Given the description of an element on the screen output the (x, y) to click on. 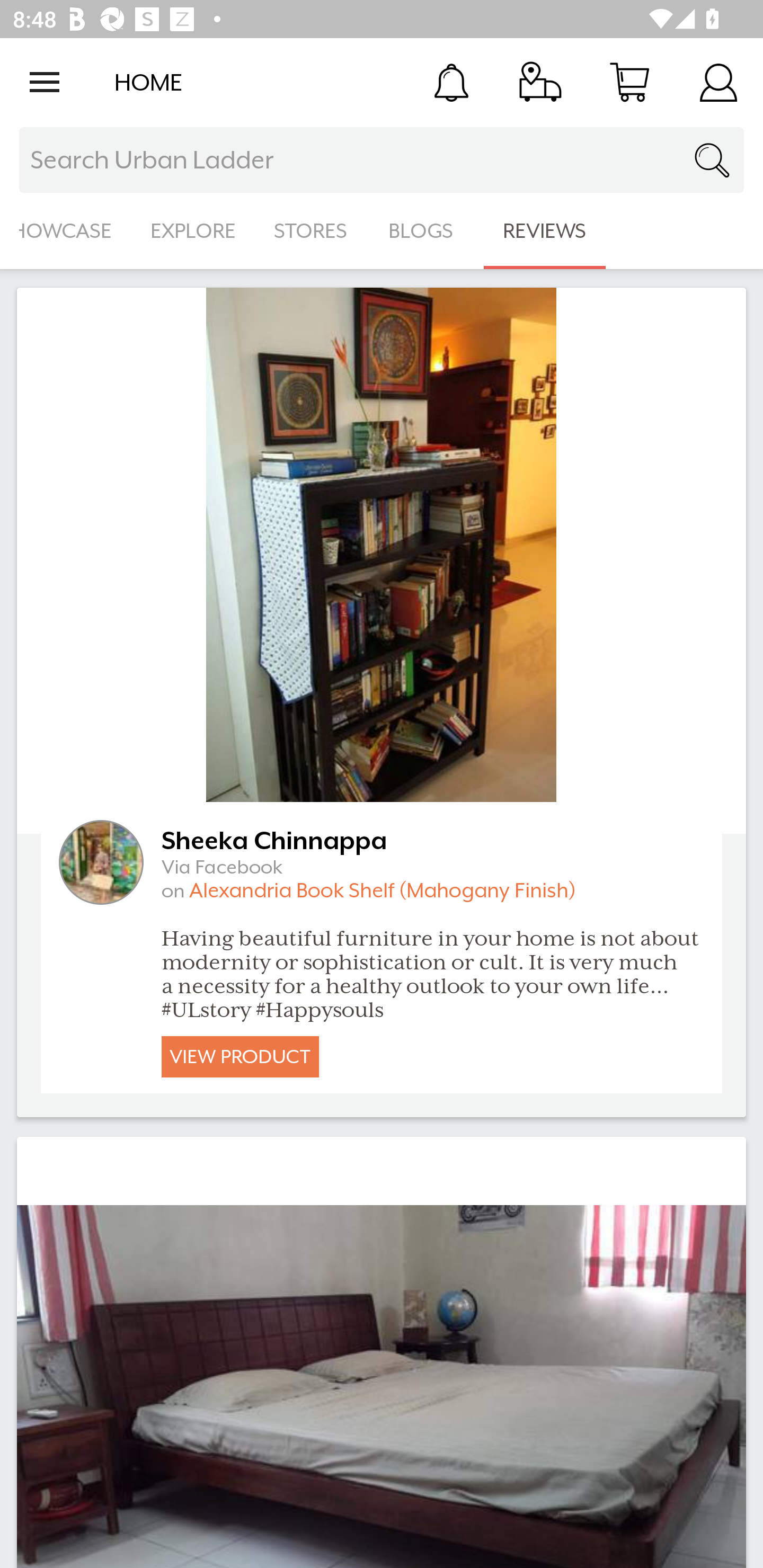
Open navigation drawer (44, 82)
Notification (450, 81)
Track Order (540, 81)
Cart (629, 81)
Account Details (718, 81)
Search Urban Ladder  (381, 159)
SHOWCASE (65, 230)
EXPLORE (192, 230)
STORES (311, 230)
BLOGS (426, 230)
REVIEWS (544, 230)
VIEW PRODUCT (239, 1056)
